Given the description of an element on the screen output the (x, y) to click on. 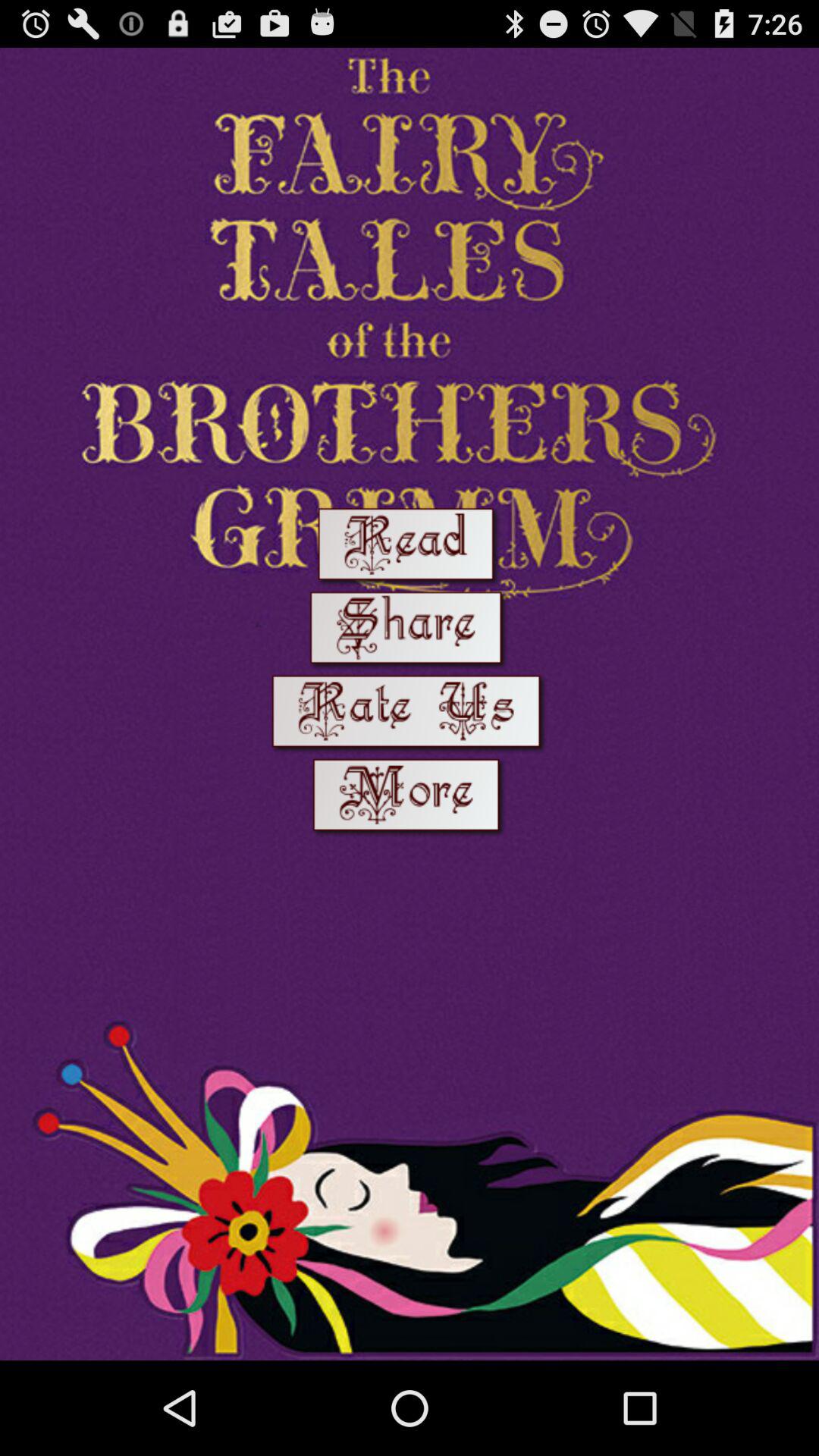
next page (409, 798)
